Given the description of an element on the screen output the (x, y) to click on. 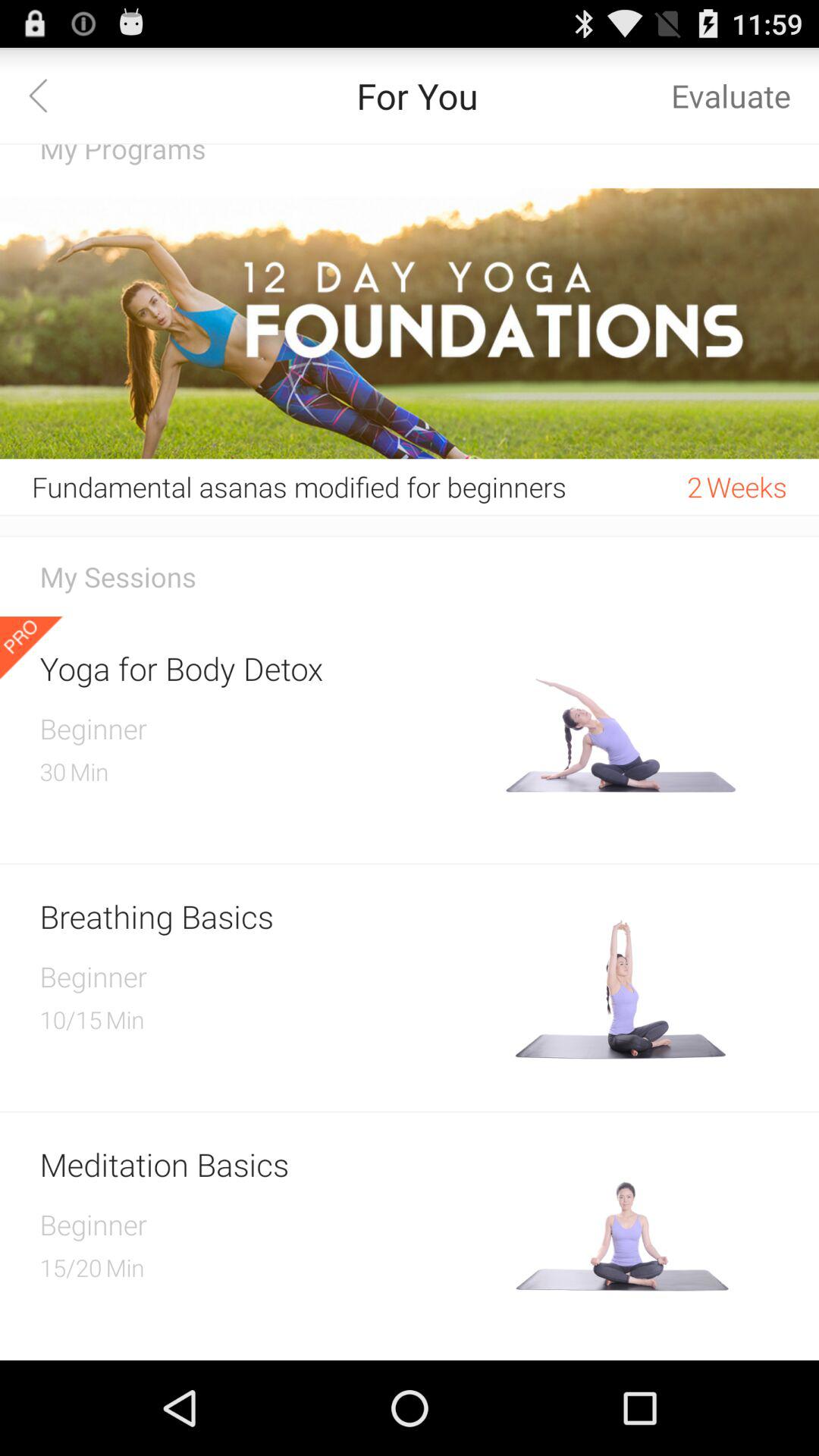
scroll until the yoga for body item (266, 667)
